Given the description of an element on the screen output the (x, y) to click on. 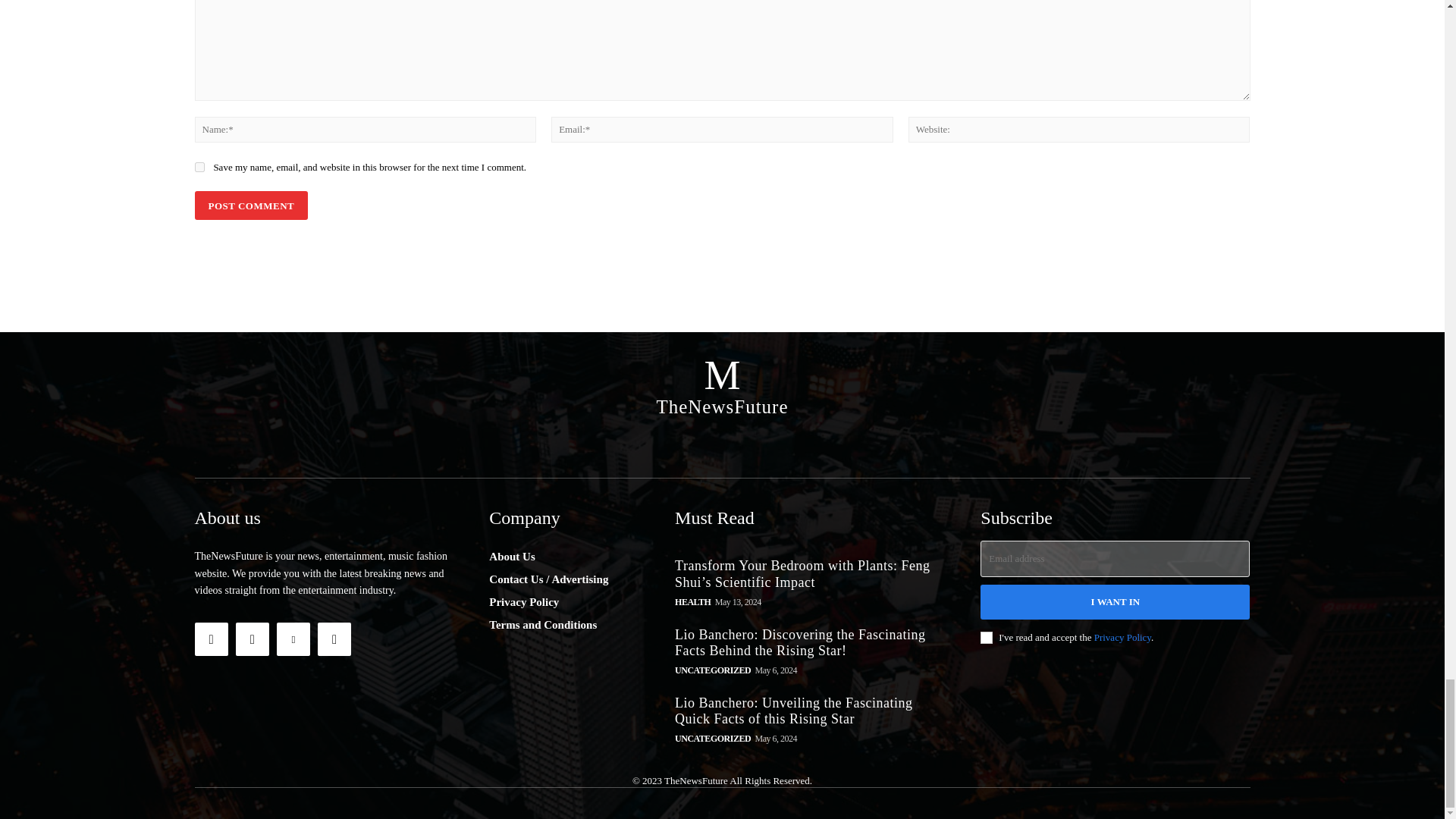
Post Comment (250, 205)
yes (198, 166)
